Given the description of an element on the screen output the (x, y) to click on. 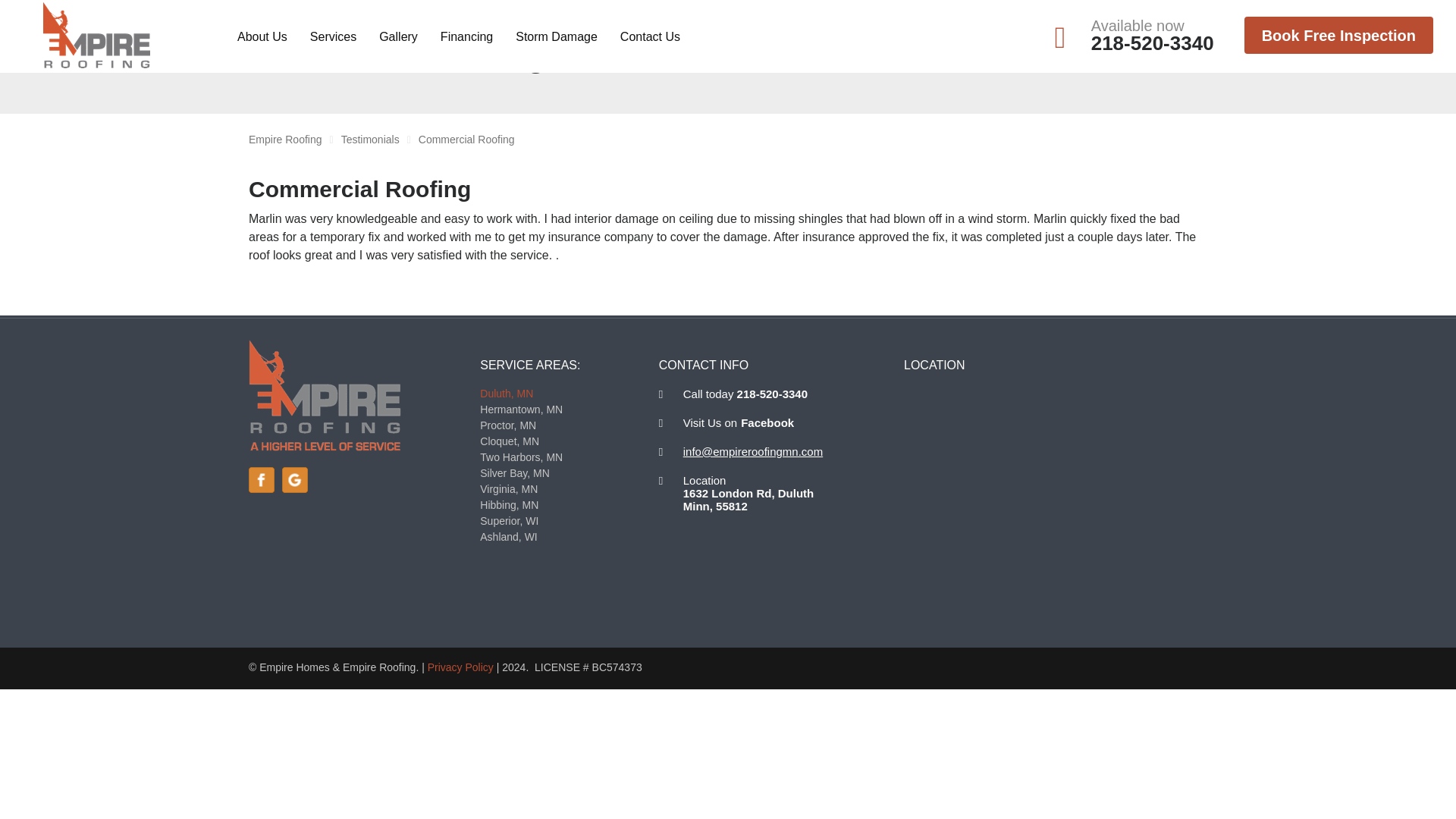
Storm Damage (555, 35)
Go to Empire Roofing. (284, 140)
Testimonials (369, 140)
Empire Roofing (96, 34)
Go to Testimonials. (369, 140)
Empire Roofing (284, 140)
Empire Roofing (324, 395)
218-520-3340 (1152, 43)
Book Free Inspection (1338, 35)
